Given the description of an element on the screen output the (x, y) to click on. 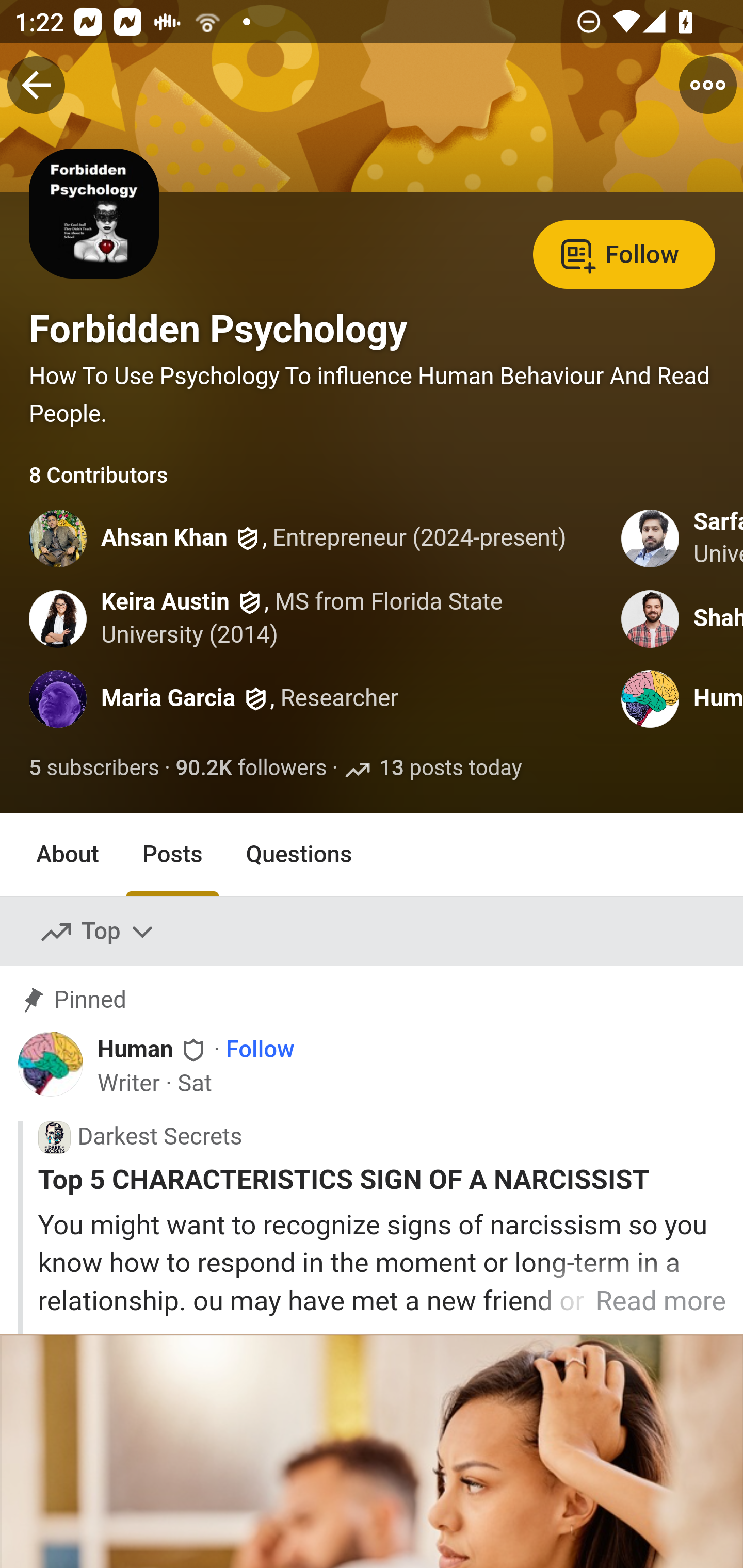
Follow (623, 252)
Forbidden Psychology (217, 329)
Profile photo for Ahsan Khan (58, 538)
Profile photo for Sarfaraz Ali (650, 538)
Ahsan Khan (164, 539)
Keira Austin (166, 601)
Profile photo for Keira Austin (58, 617)
Profile photo for Shahzad Sultan (650, 617)
Profile photo for Maria Garcia (58, 699)
Profile photo for Human (650, 699)
Maria Garcia (168, 699)
5 subscribers (94, 768)
90.2K followers (251, 768)
About (68, 854)
Posts (171, 854)
Questions (299, 854)
Top (97, 931)
Profile photo for Human (50, 1063)
Human Human   (153, 1049)
Follow (259, 1051)
Icon for Darkest Secrets (54, 1137)
Top 5 CHARACTERISTICS SIGN OF A NARCISSIST (381, 1179)
